Given the description of an element on the screen output the (x, y) to click on. 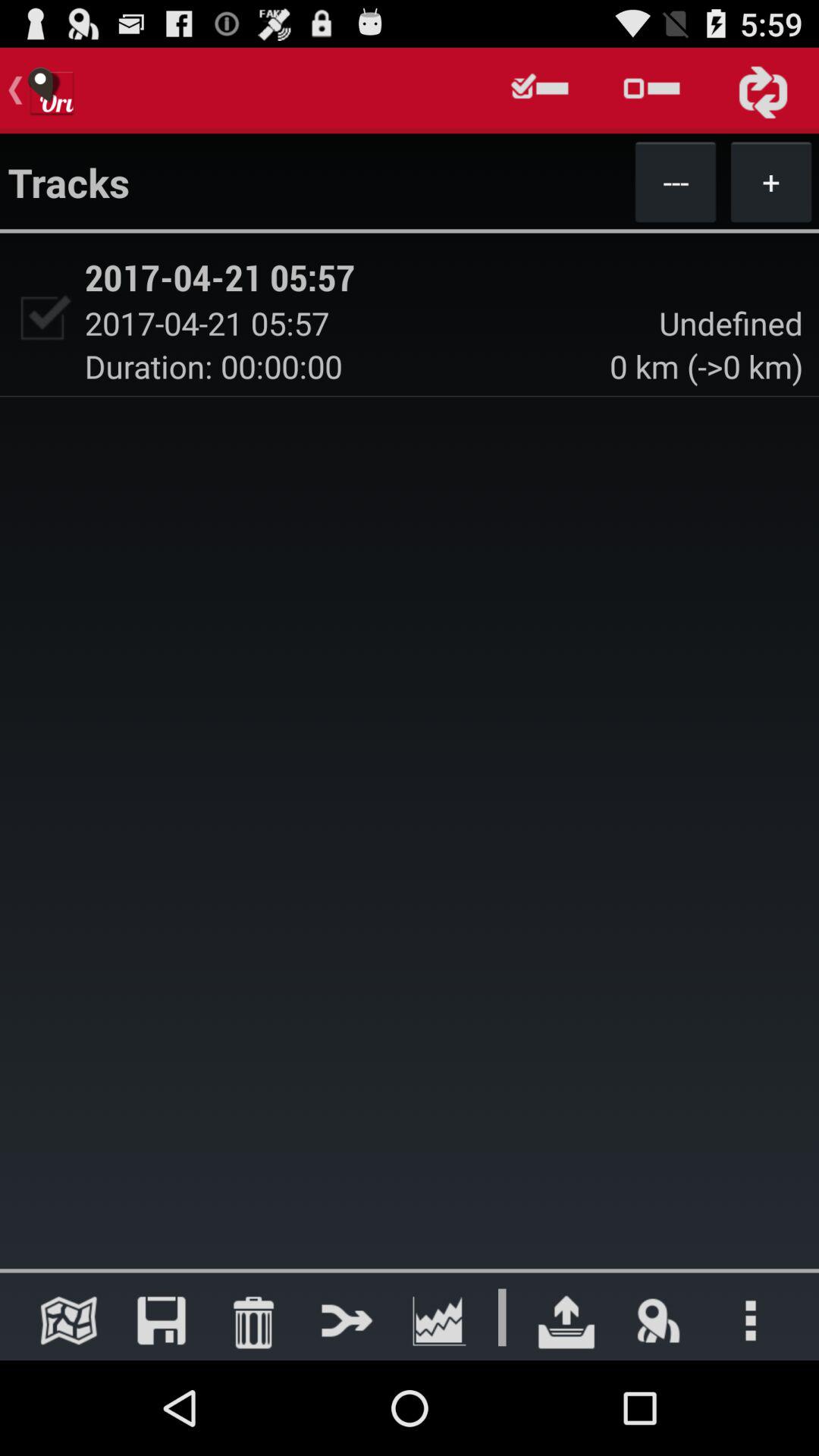
pin location (658, 1320)
